Given the description of an element on the screen output the (x, y) to click on. 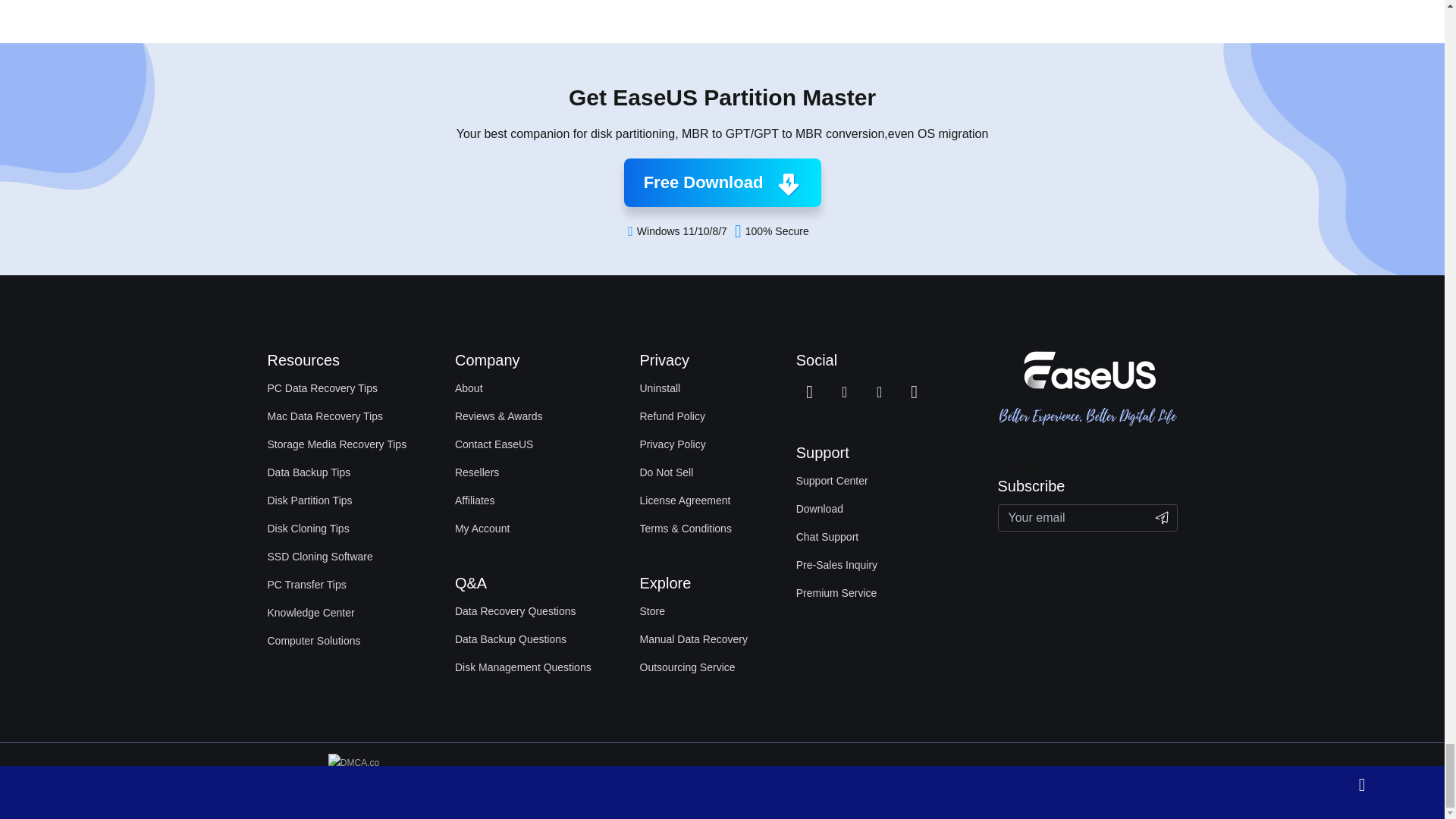
DMCA.com Protection Status (358, 779)
